Given the description of an element on the screen output the (x, y) to click on. 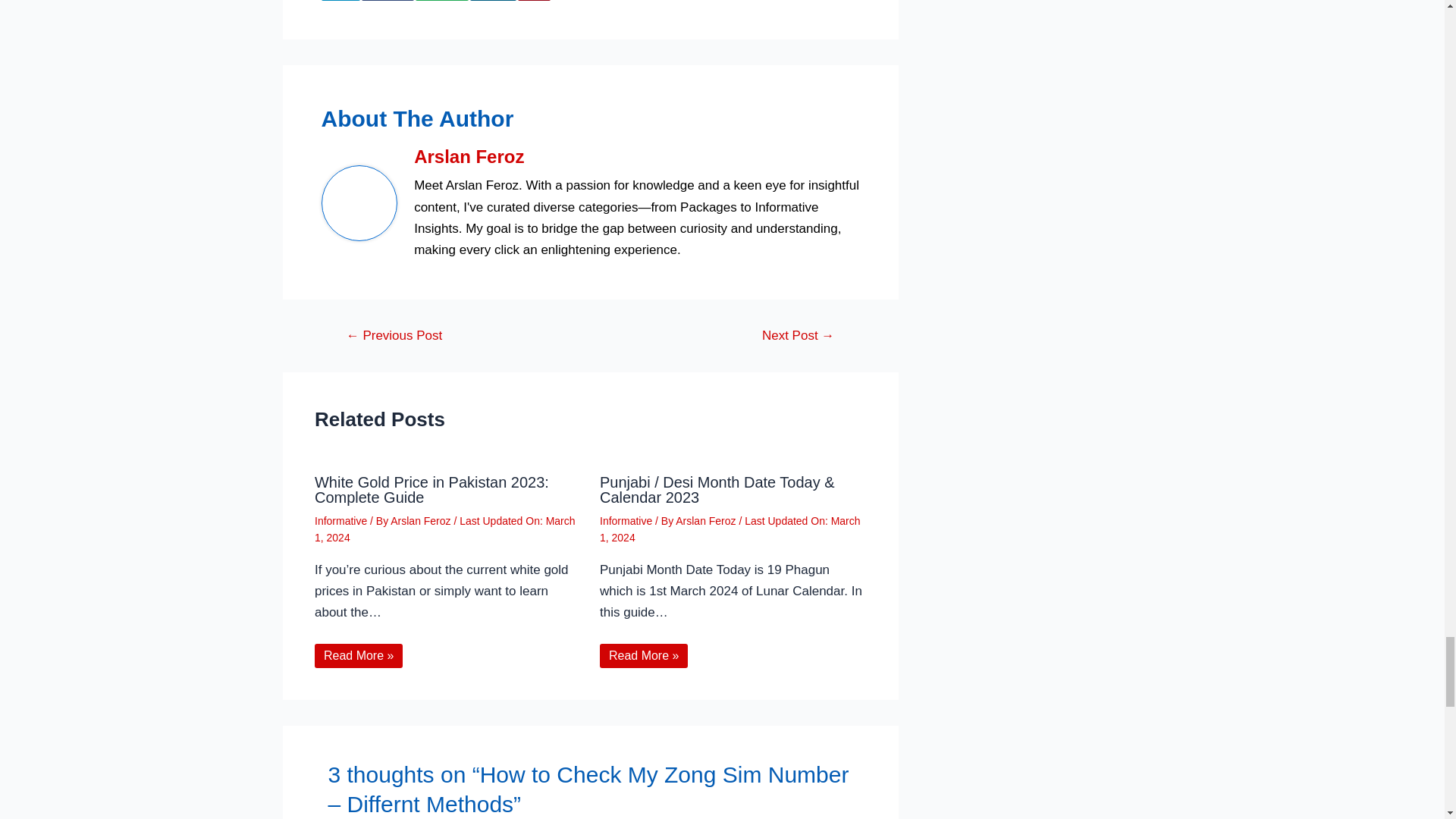
View all posts by Arslan Feroz (706, 521)
View all posts by Arslan Feroz (421, 521)
